Given the description of an element on the screen output the (x, y) to click on. 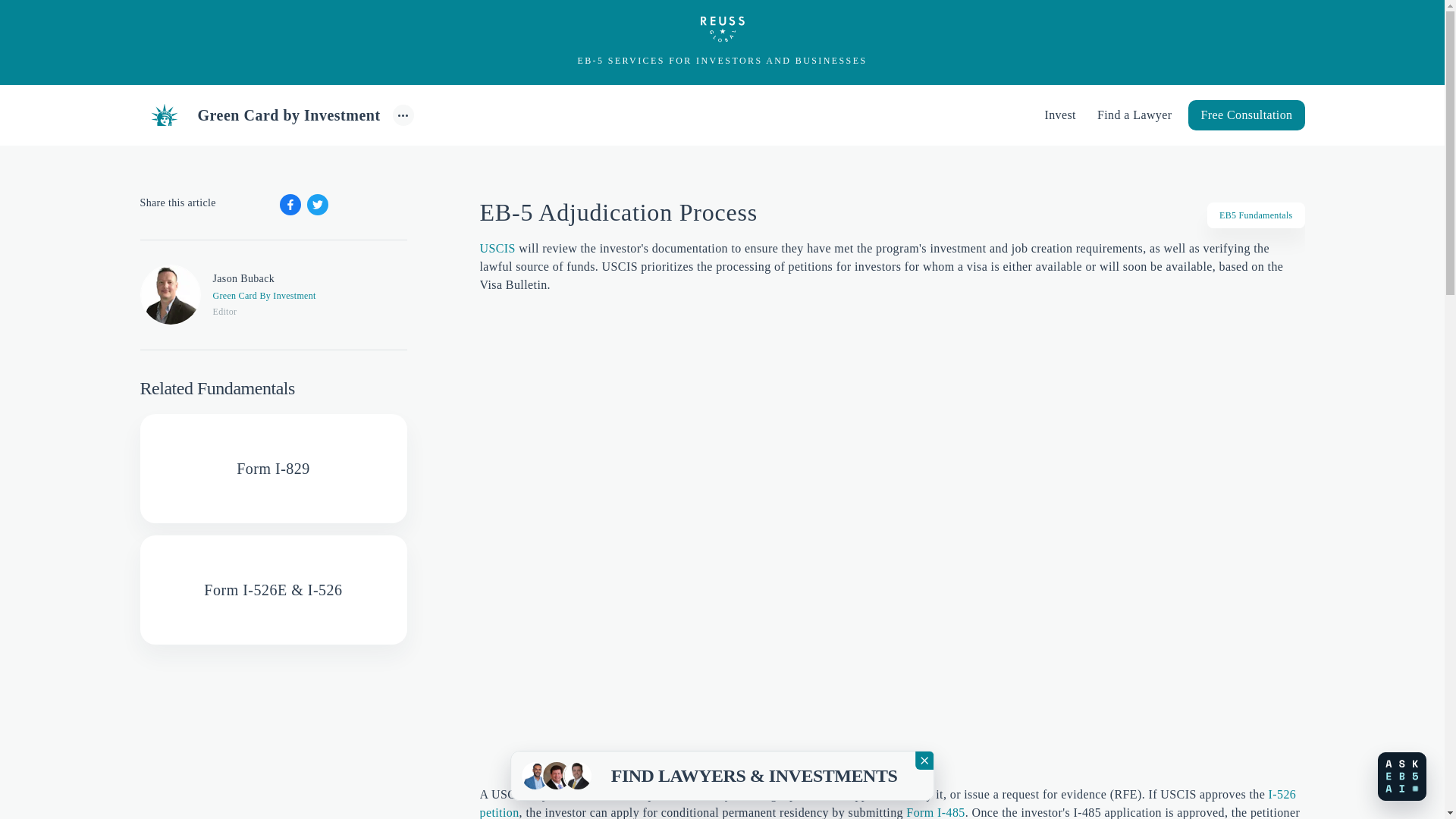
Green Card by Investment (259, 114)
Free Consultation (1246, 114)
Invest (1059, 114)
Find a Lawyer (1134, 114)
